Given the description of an element on the screen output the (x, y) to click on. 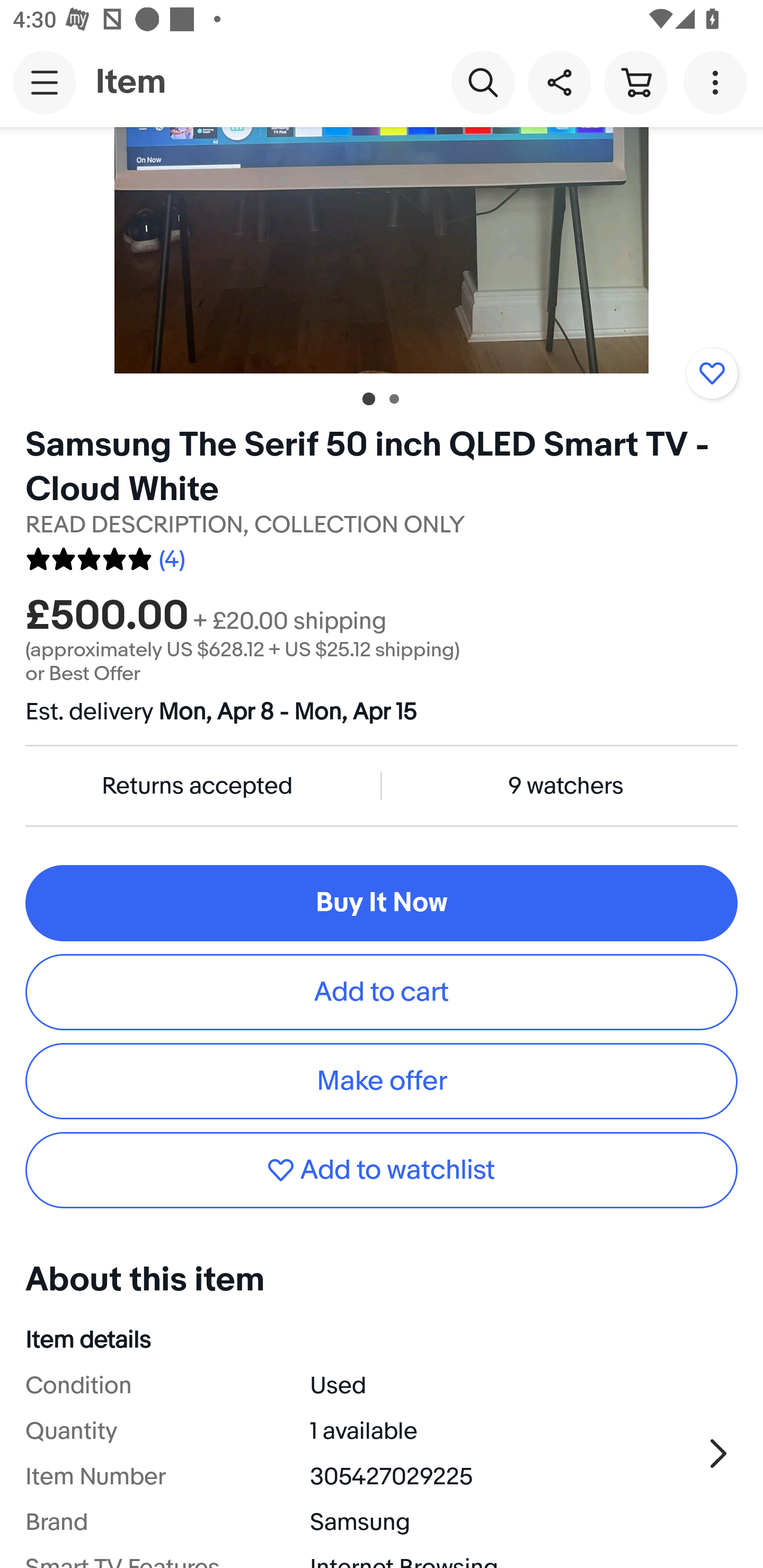
Main navigation, open (44, 82)
Search (482, 81)
Share this item (559, 81)
Cart button shopping cart (635, 81)
More options (718, 81)
Item image 1 of 2 (381, 250)
Add to watchlist (711, 372)
4 reviews. Average rating 5.0 out of five 10.0 (4) (105, 556)
Buy It Now (381, 902)
Add to cart (381, 991)
Make offer (381, 1080)
Add to watchlist (381, 1170)
